Given the description of an element on the screen output the (x, y) to click on. 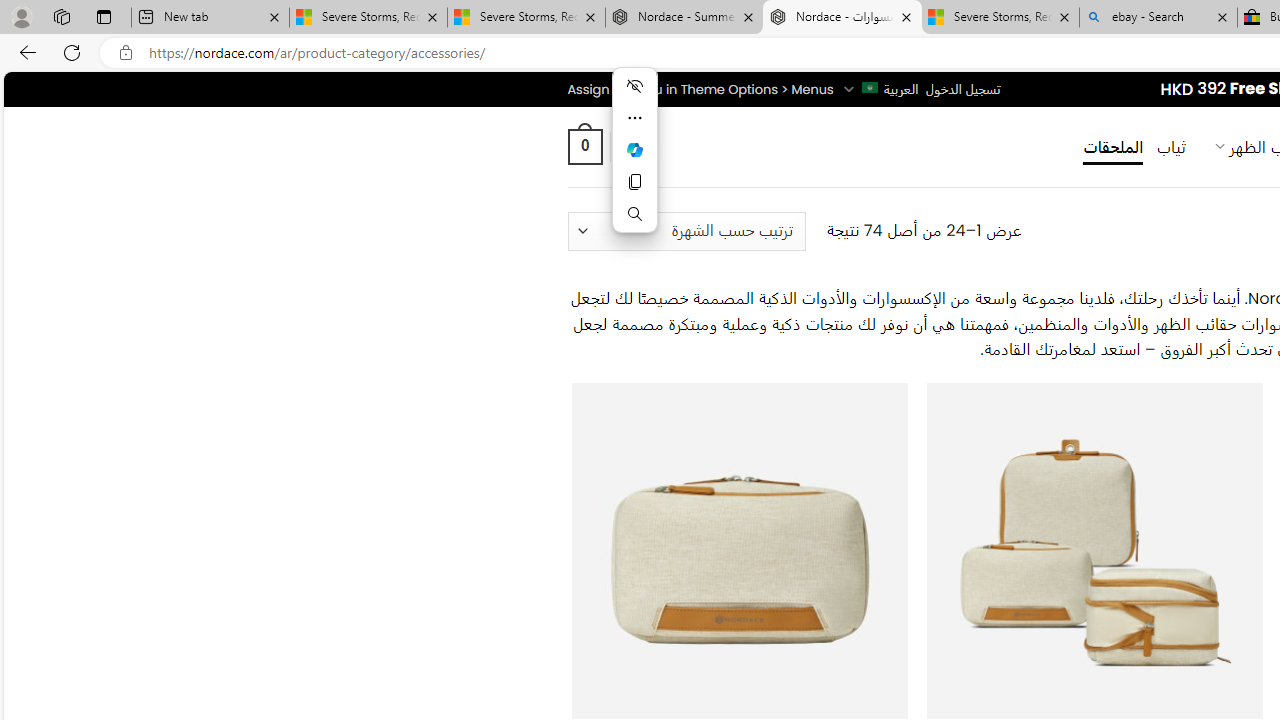
Search (634, 213)
Hide menu (634, 85)
More actions (634, 117)
Assign a menu in Theme Options > Menus (700, 89)
Ask Copilot (634, 149)
 0  (584, 146)
Assign a menu in Theme Options > Menus (700, 89)
Back (24, 52)
